Given the description of an element on the screen output the (x, y) to click on. 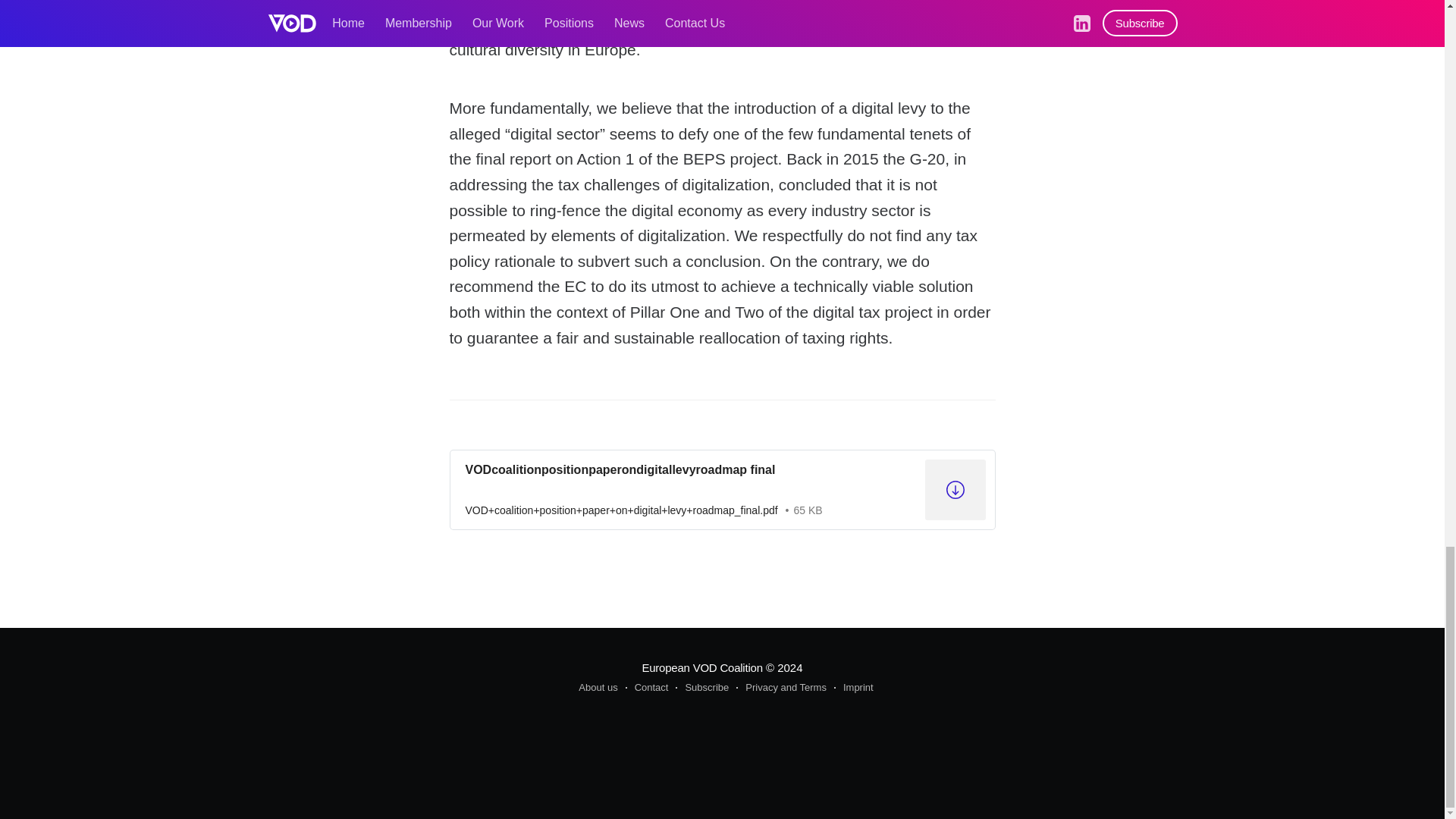
Contact (647, 687)
Download (721, 489)
Imprint (853, 687)
Privacy and Terms (781, 687)
European VOD Coalition (701, 667)
About us (597, 687)
Subscribe (702, 687)
